Given the description of an element on the screen output the (x, y) to click on. 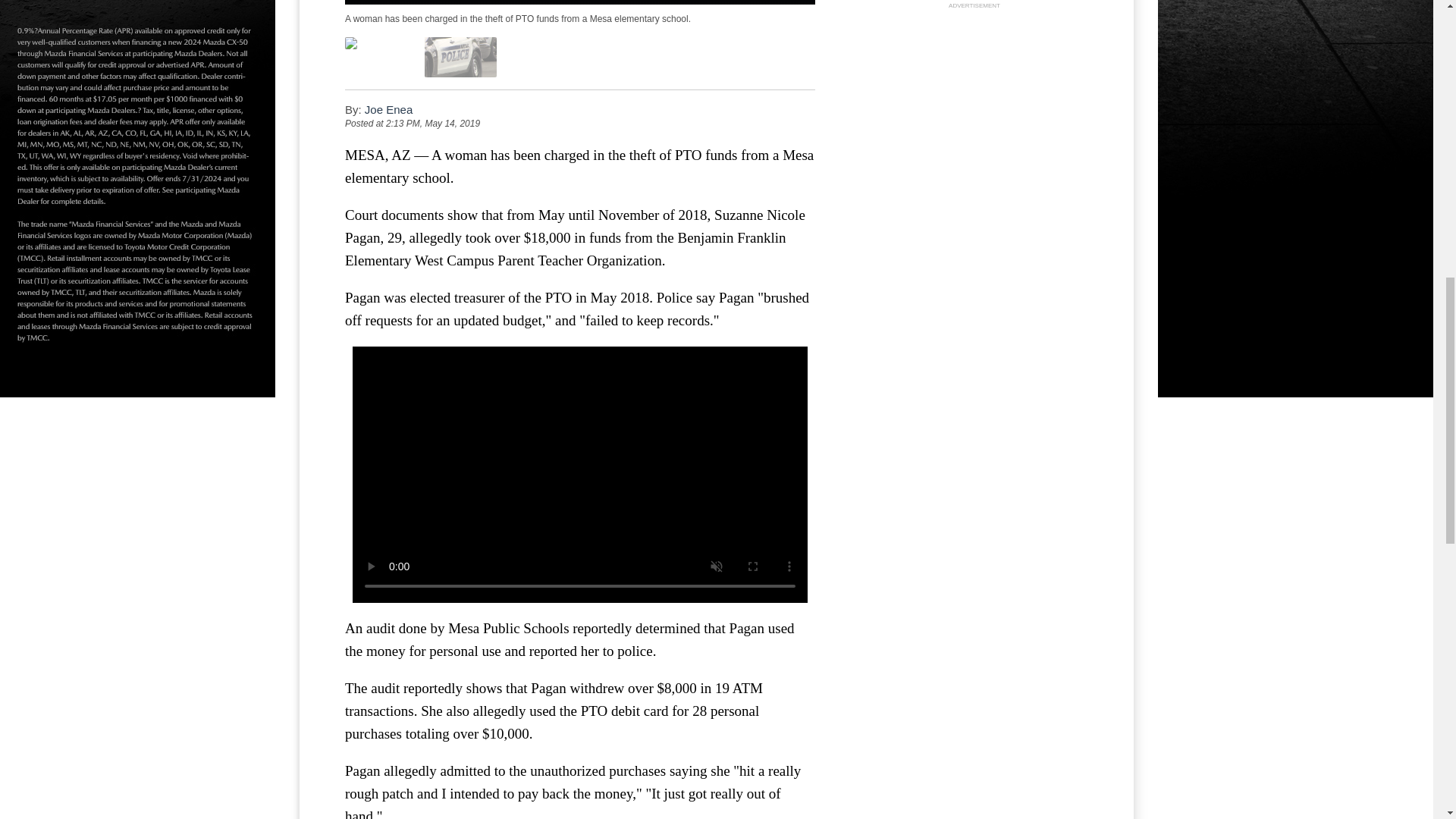
3rd party ad content (973, 106)
